Given the description of an element on the screen output the (x, y) to click on. 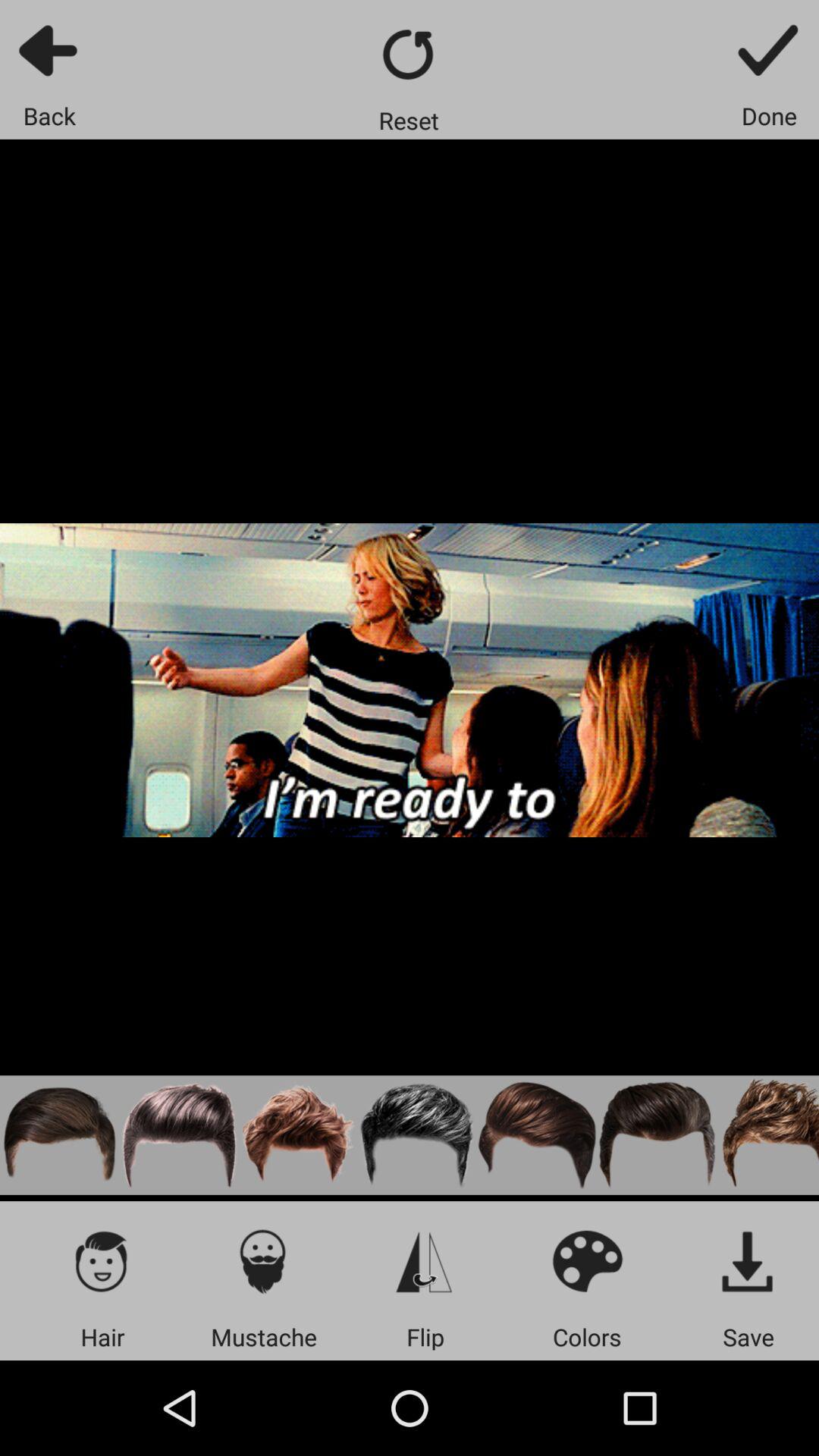
save image (748, 1260)
